Given the description of an element on the screen output the (x, y) to click on. 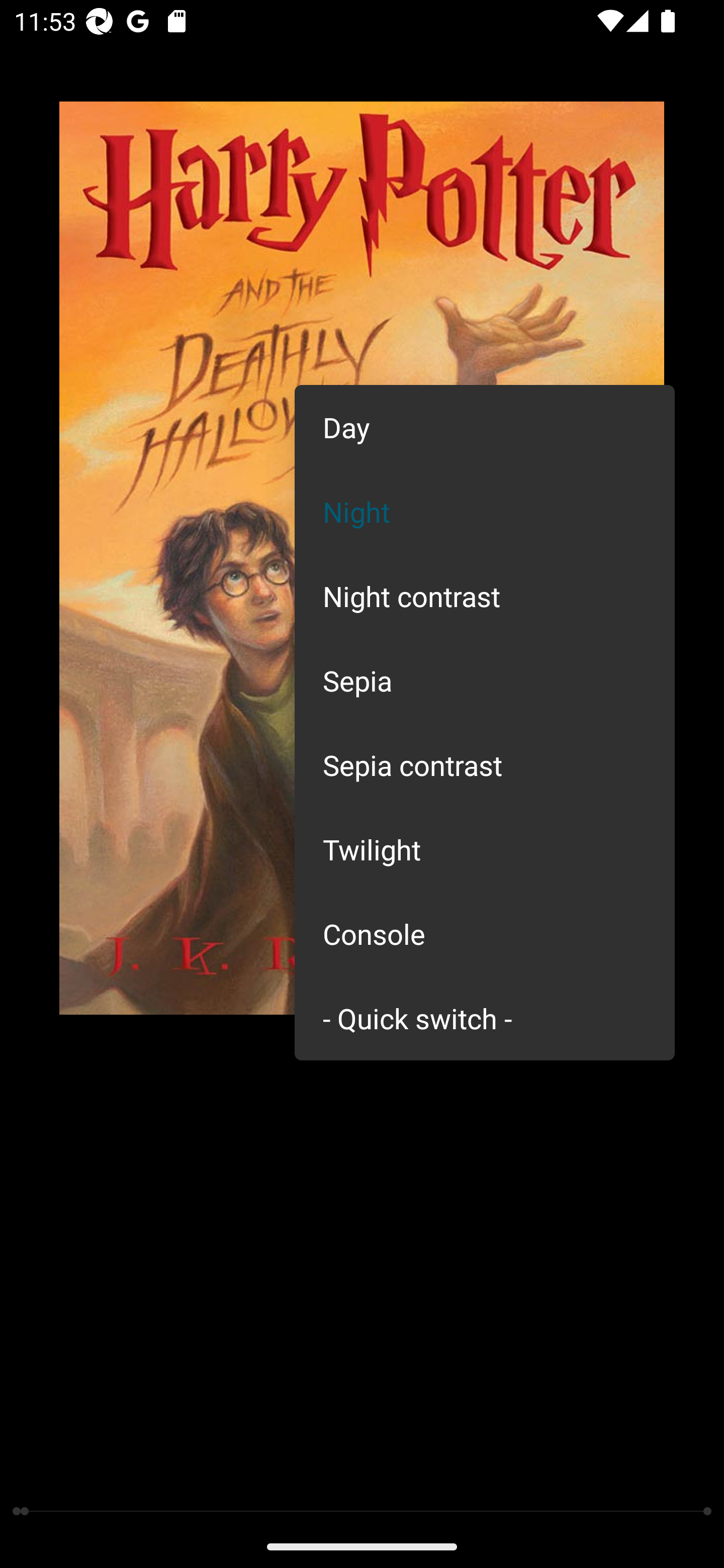
Day (484, 426)
Night (484, 510)
Night contrast (484, 595)
Sepia (484, 680)
Sepia contrast (484, 764)
Twilight (484, 849)
Console (484, 933)
- Quick switch - (484, 1017)
